Given the description of an element on the screen output the (x, y) to click on. 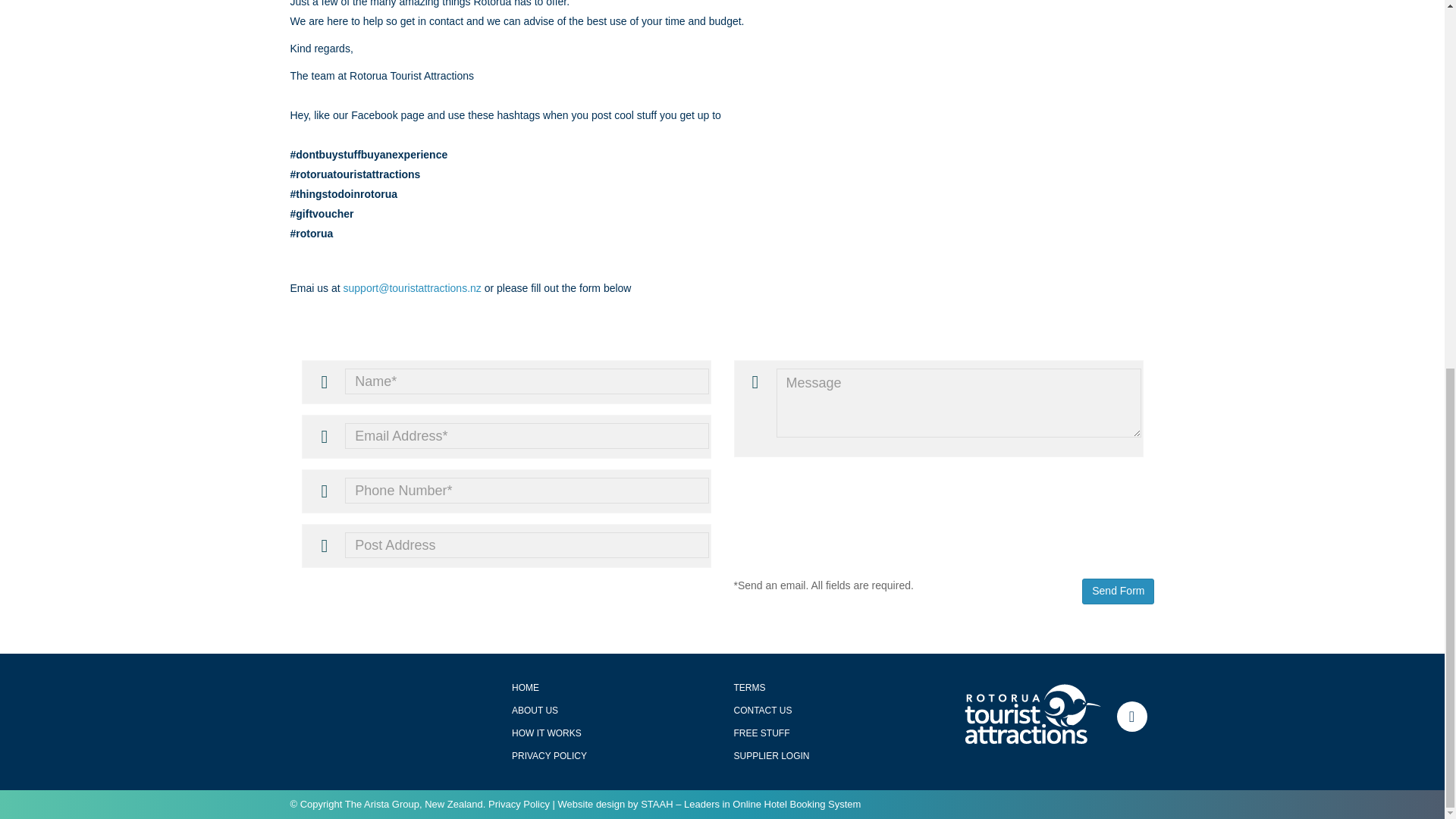
CONTACT US (762, 710)
TERMS (749, 687)
Send Form (1117, 591)
SUPPLIER LOGIN (771, 756)
ABOUT US (534, 710)
Send Form (1117, 591)
PRIVACY POLICY (549, 756)
Privacy Policy (518, 803)
Online Hotel Booking System (796, 803)
FREE STUFF (761, 733)
